Given the description of an element on the screen output the (x, y) to click on. 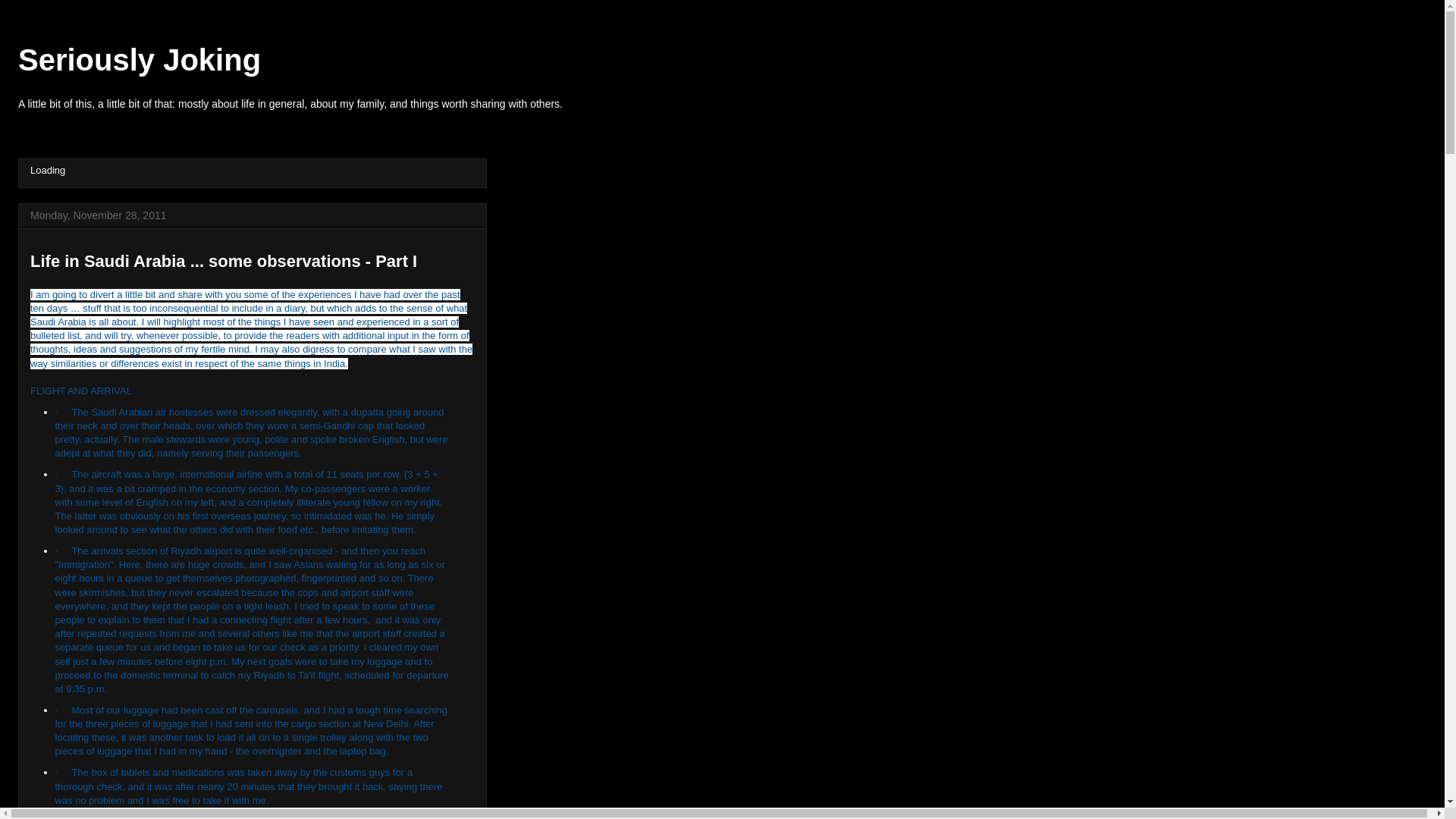
Seriously Joking (138, 59)
